Given the description of an element on the screen output the (x, y) to click on. 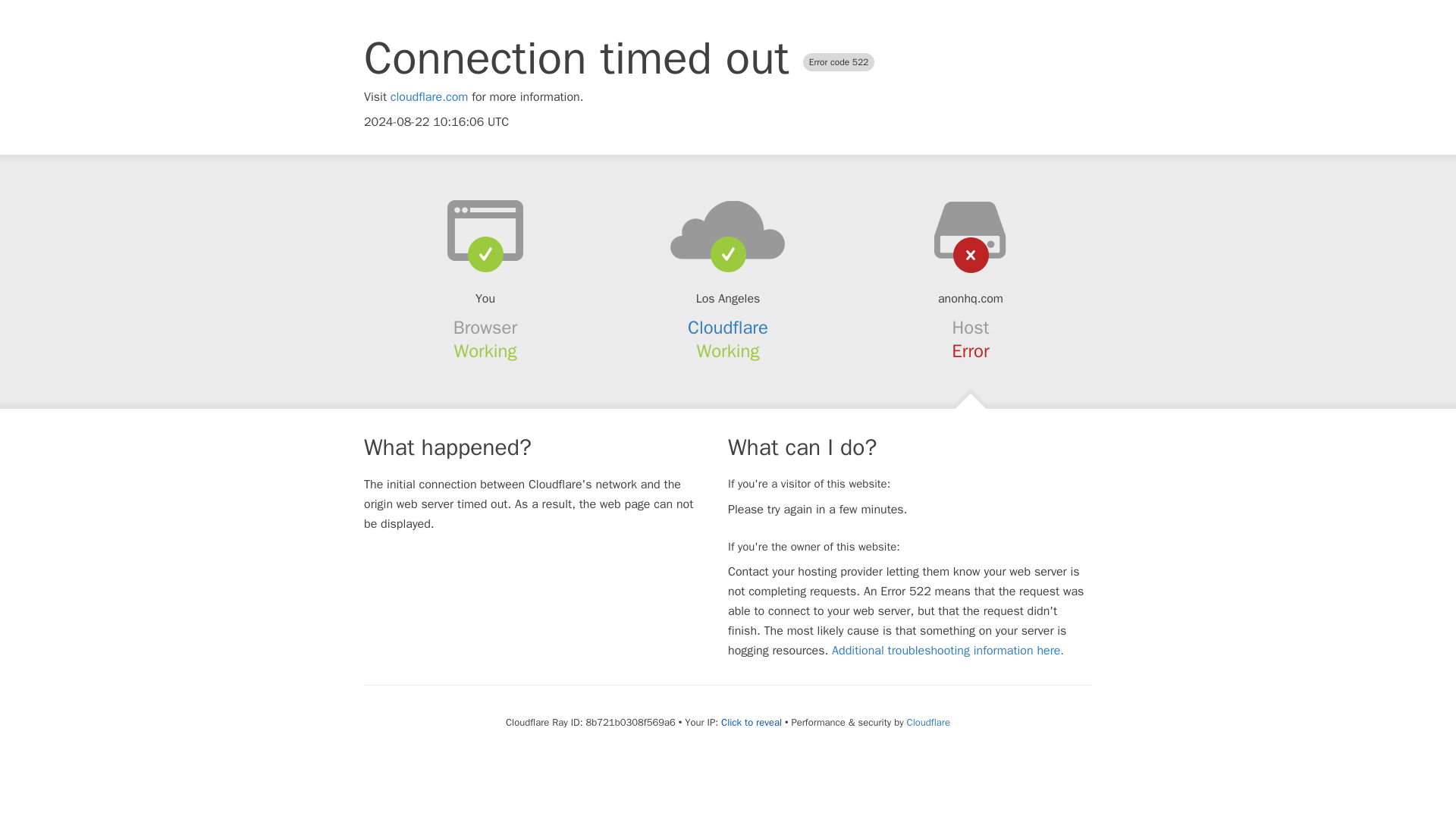
Click to reveal (750, 722)
cloudflare.com (429, 96)
Cloudflare (727, 327)
Additional troubleshooting information here. (947, 650)
Cloudflare (928, 721)
